Given the description of an element on the screen output the (x, y) to click on. 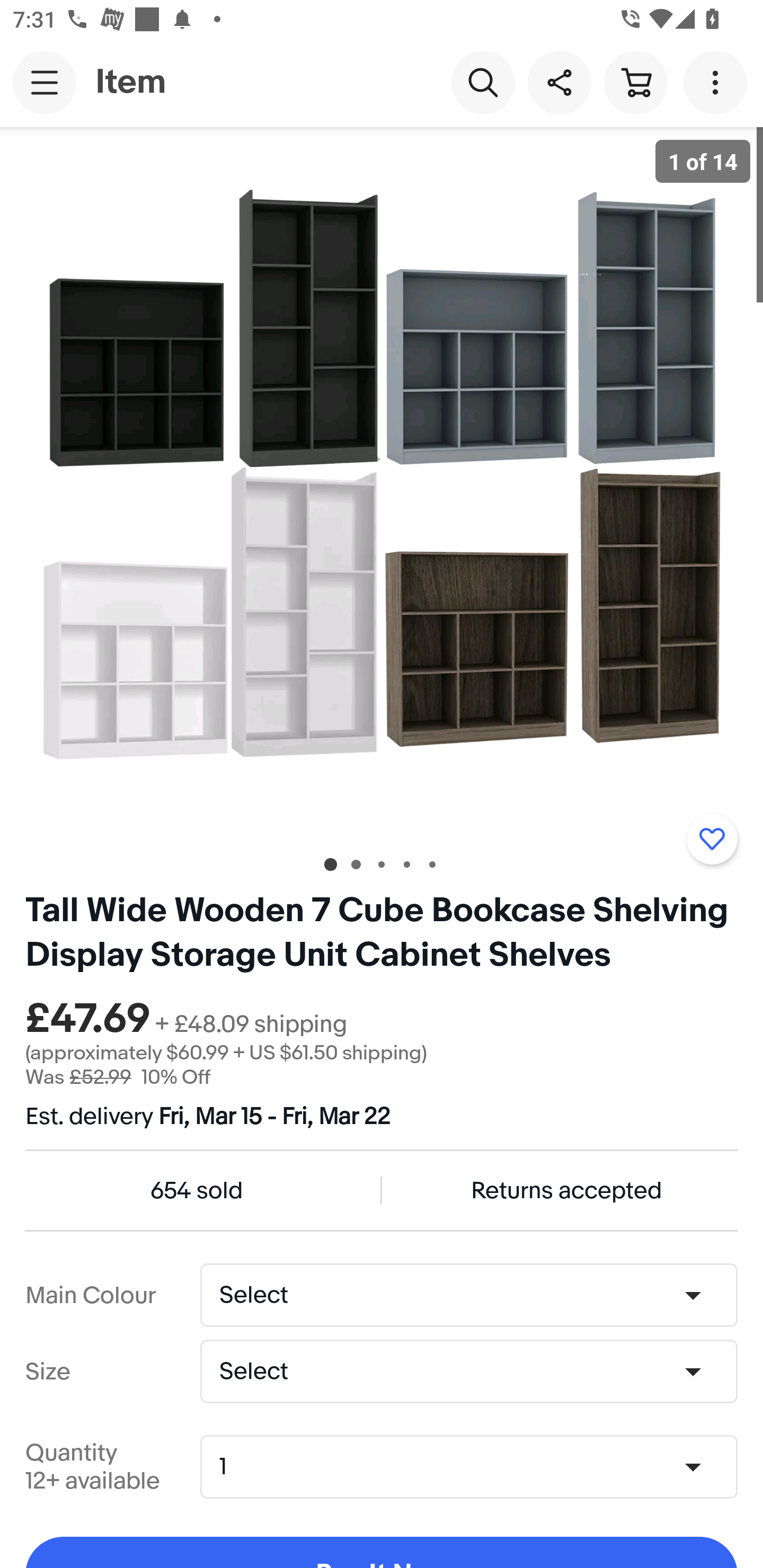
Main navigation, open (44, 82)
Search (482, 81)
Share this item (559, 81)
Cart button shopping cart (635, 81)
More options (718, 81)
Item image 1 of 14 (381, 482)
Add to watchlist (711, 838)
Main Colour,No selection Select (468, 1294)
Size,No selection Select (468, 1370)
Quantity,1,12+ available 1 (474, 1466)
